Given the description of an element on the screen output the (x, y) to click on. 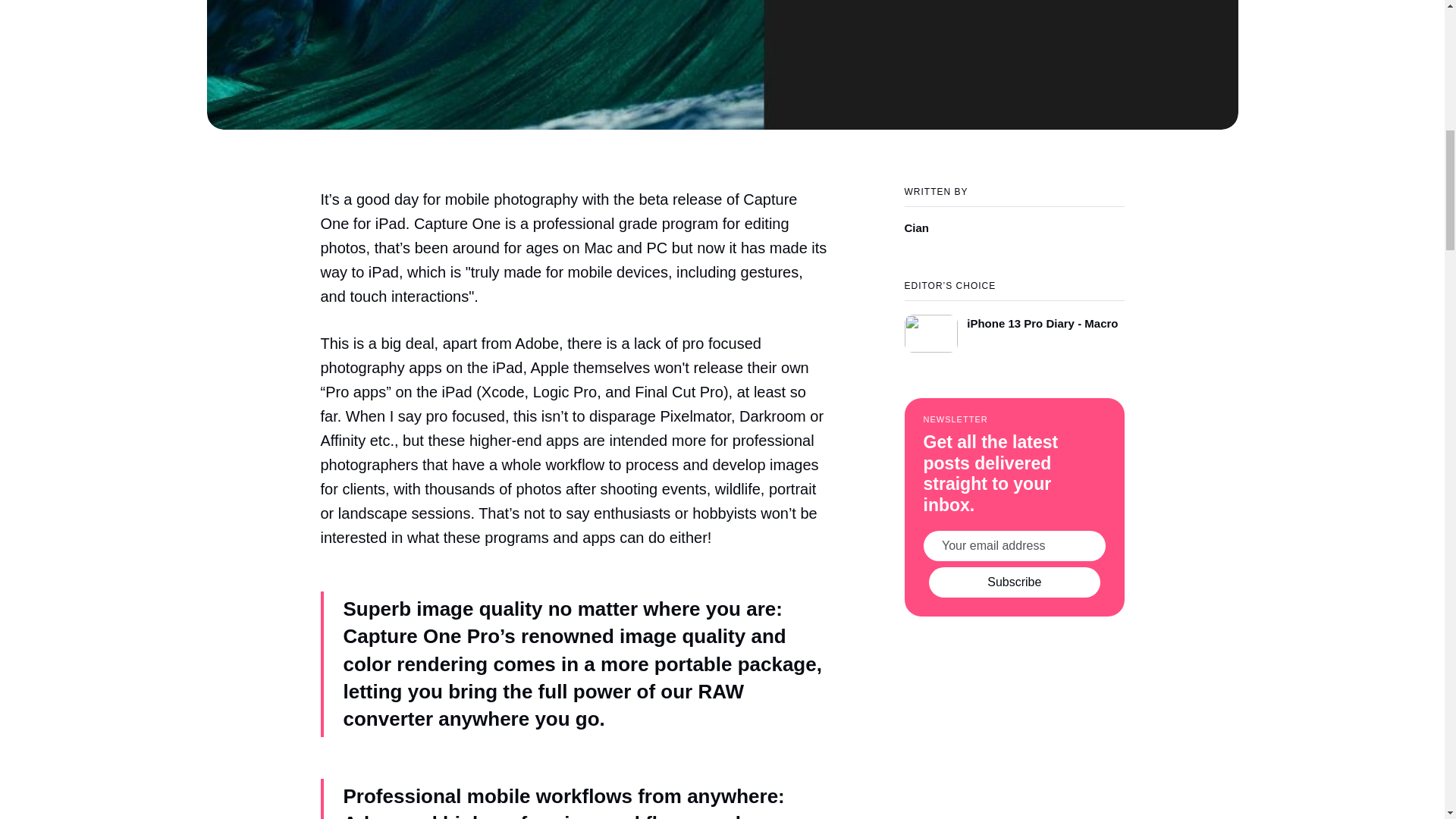
Subscribe (1014, 582)
Cian (1014, 221)
iPhone 13 Pro Diary - Macro (1014, 326)
